Given the description of an element on the screen output the (x, y) to click on. 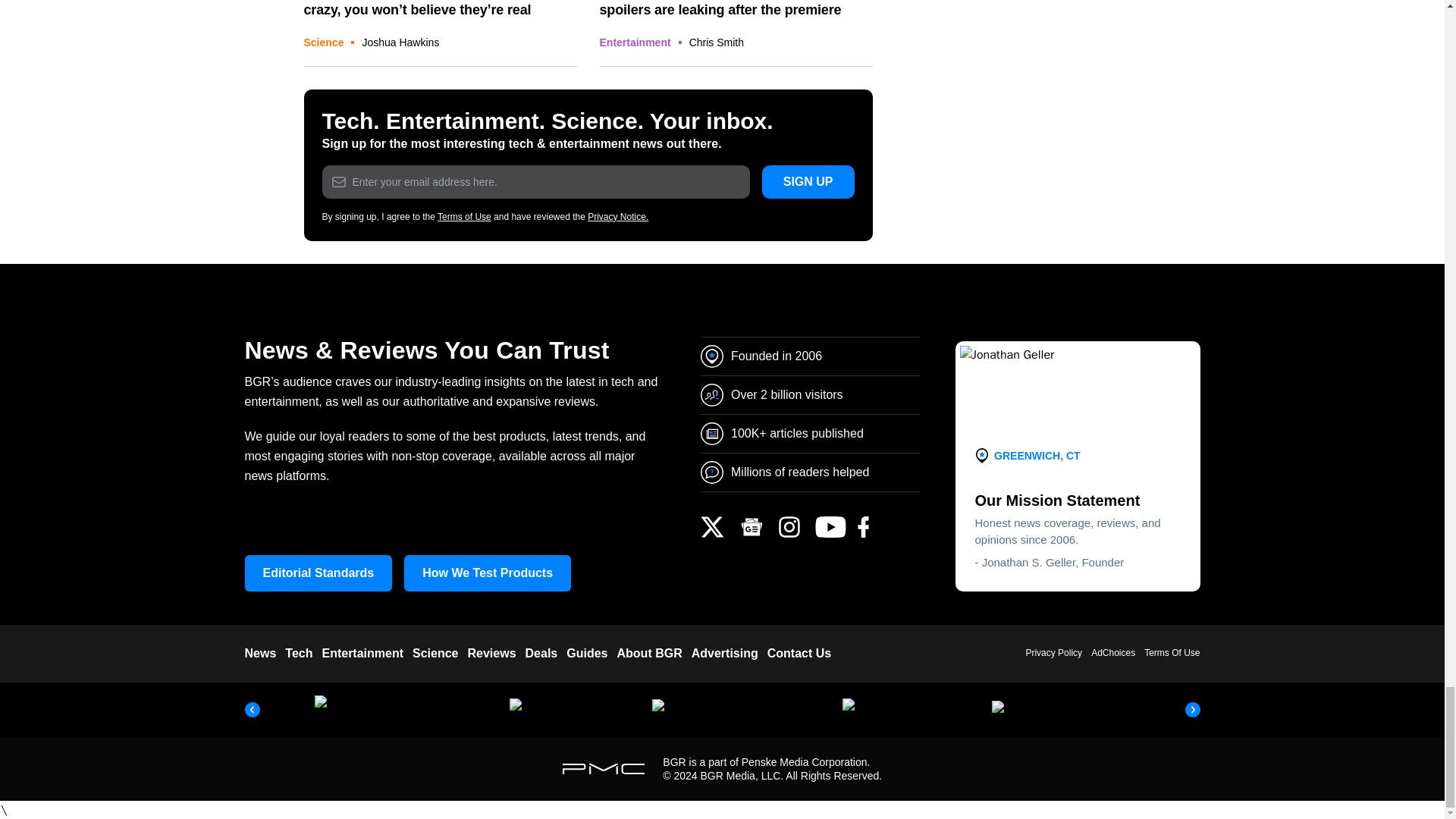
Posts by Joshua Hawkins (400, 42)
Posts by Chris Smith (716, 42)
